Given the description of an element on the screen output the (x, y) to click on. 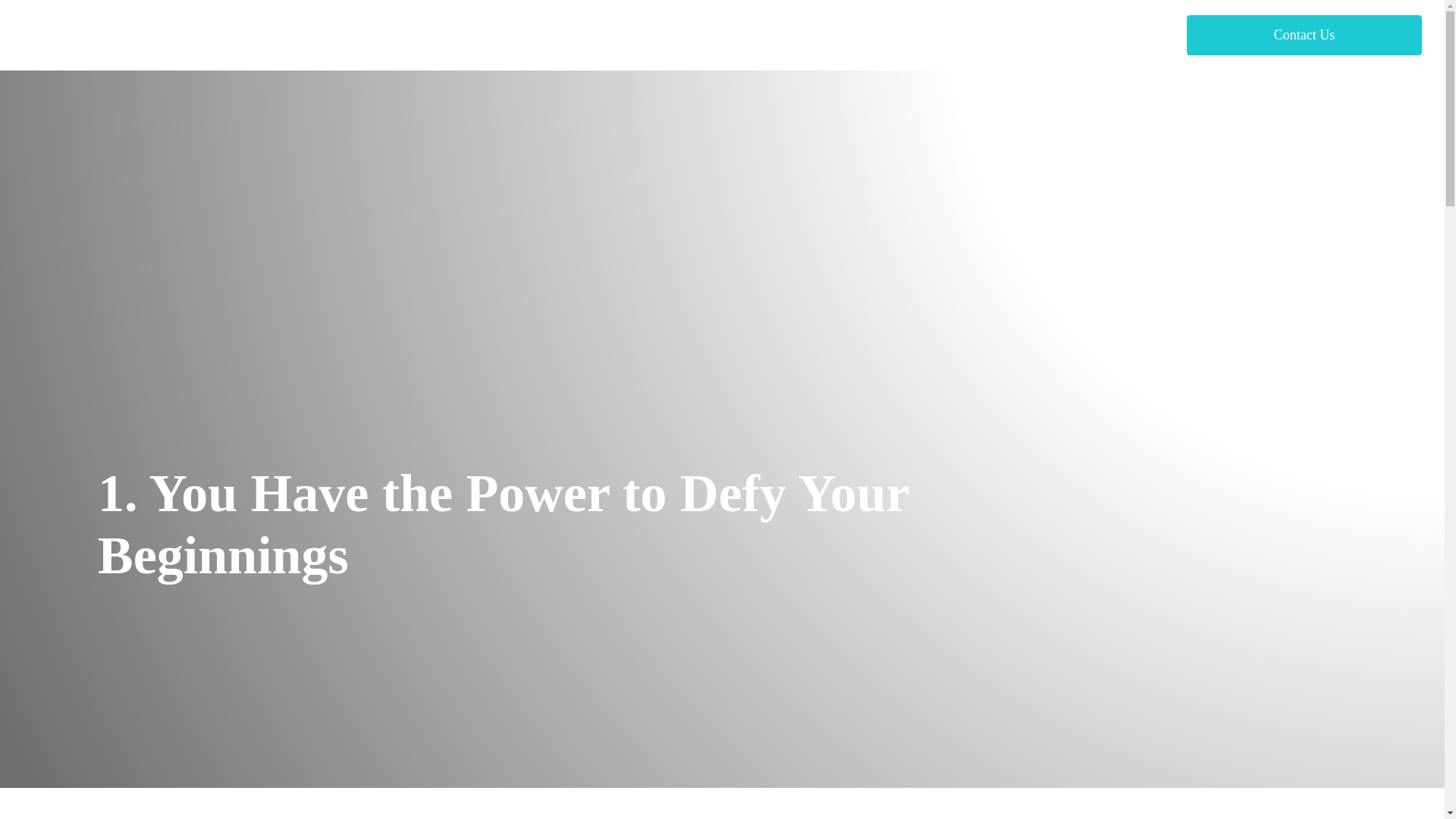
Contact Us (1304, 35)
